Given the description of an element on the screen output the (x, y) to click on. 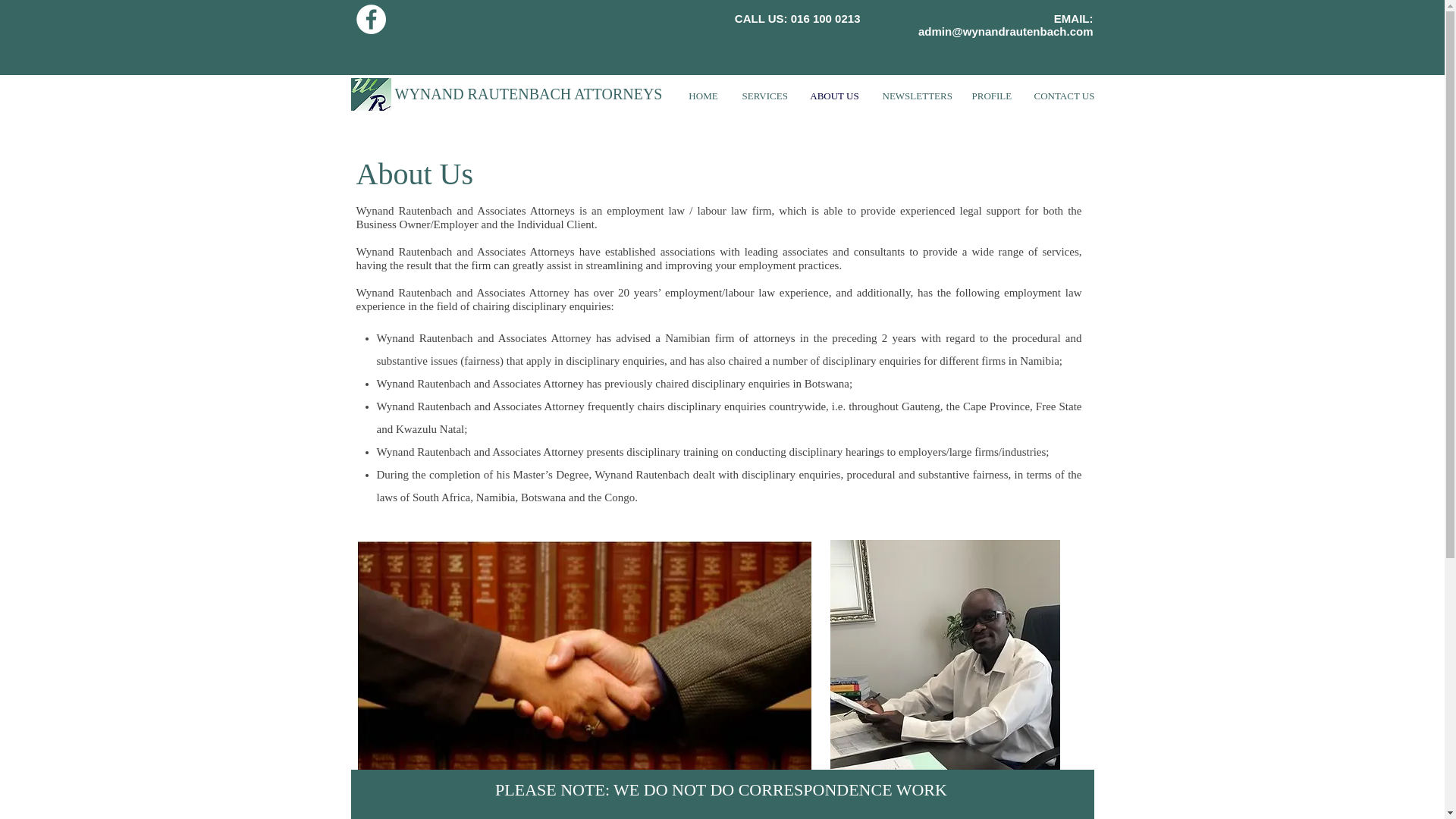
HOME (703, 95)
SERVICES (763, 95)
ABOUT US (833, 95)
WYNAND RAUTENBACH ATTORNEYS (528, 93)
PROFILE (990, 95)
CONTACT US (1063, 95)
NEWSLETTERS (914, 95)
